Given the description of an element on the screen output the (x, y) to click on. 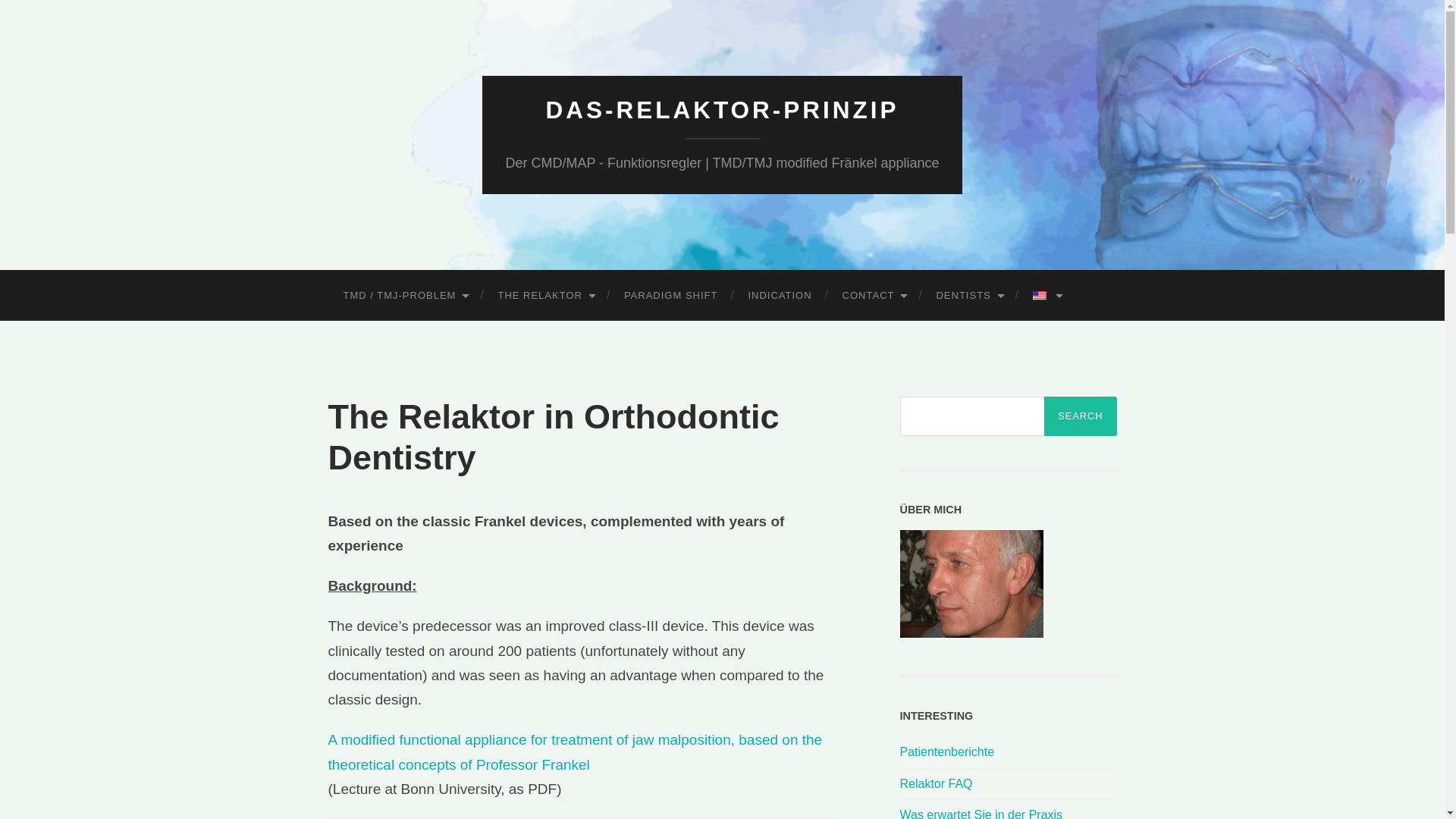
CONTACT (874, 295)
Search (1079, 415)
INDICATION (779, 295)
PARADIGM SHIFT (670, 295)
DENTISTS (968, 295)
THE RELAKTOR (544, 295)
DAS-RELAKTOR-PRINZIP (721, 109)
